Given the description of an element on the screen output the (x, y) to click on. 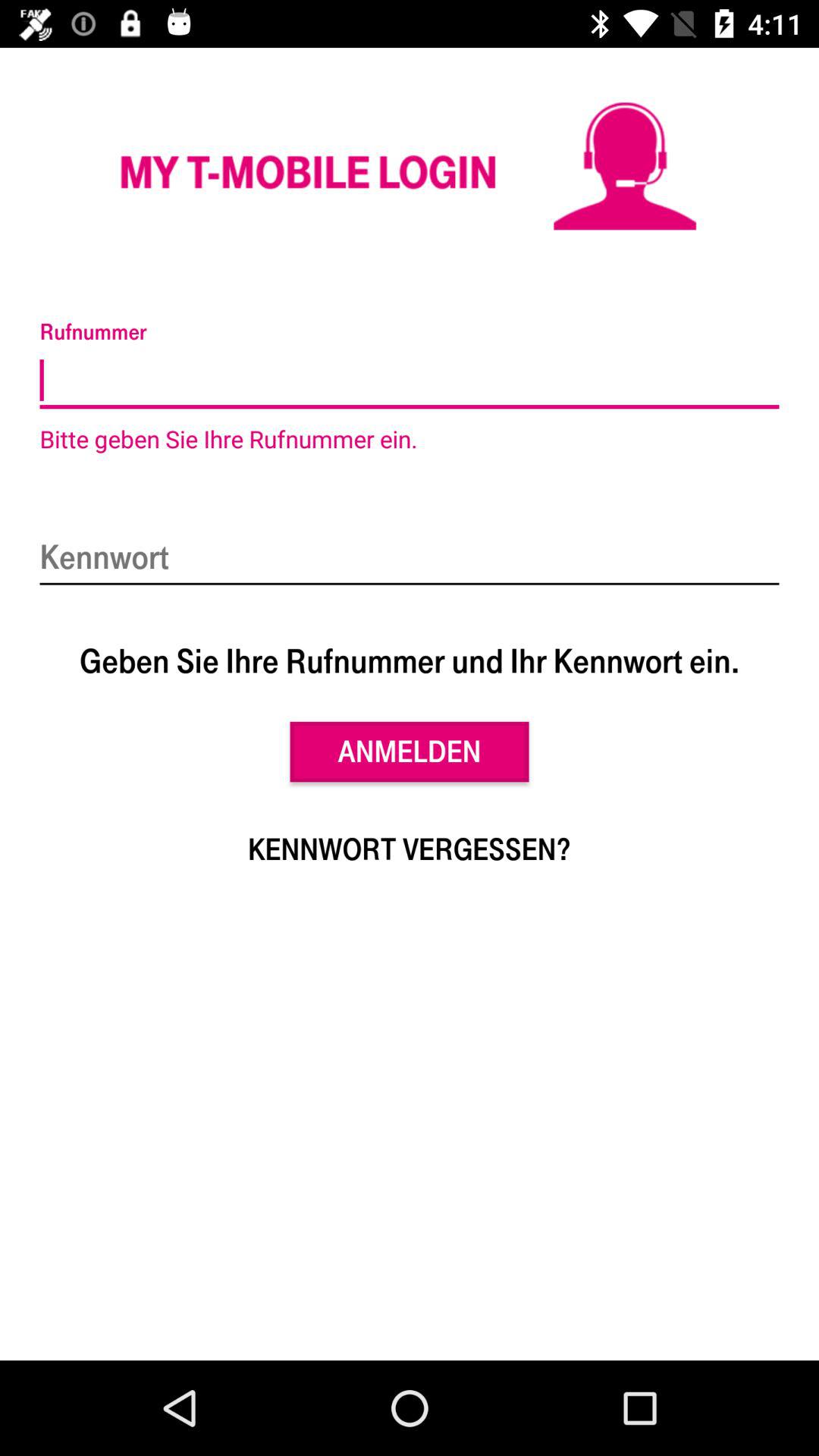
launch the icon below geben sie ihre icon (409, 751)
